Given the description of an element on the screen output the (x, y) to click on. 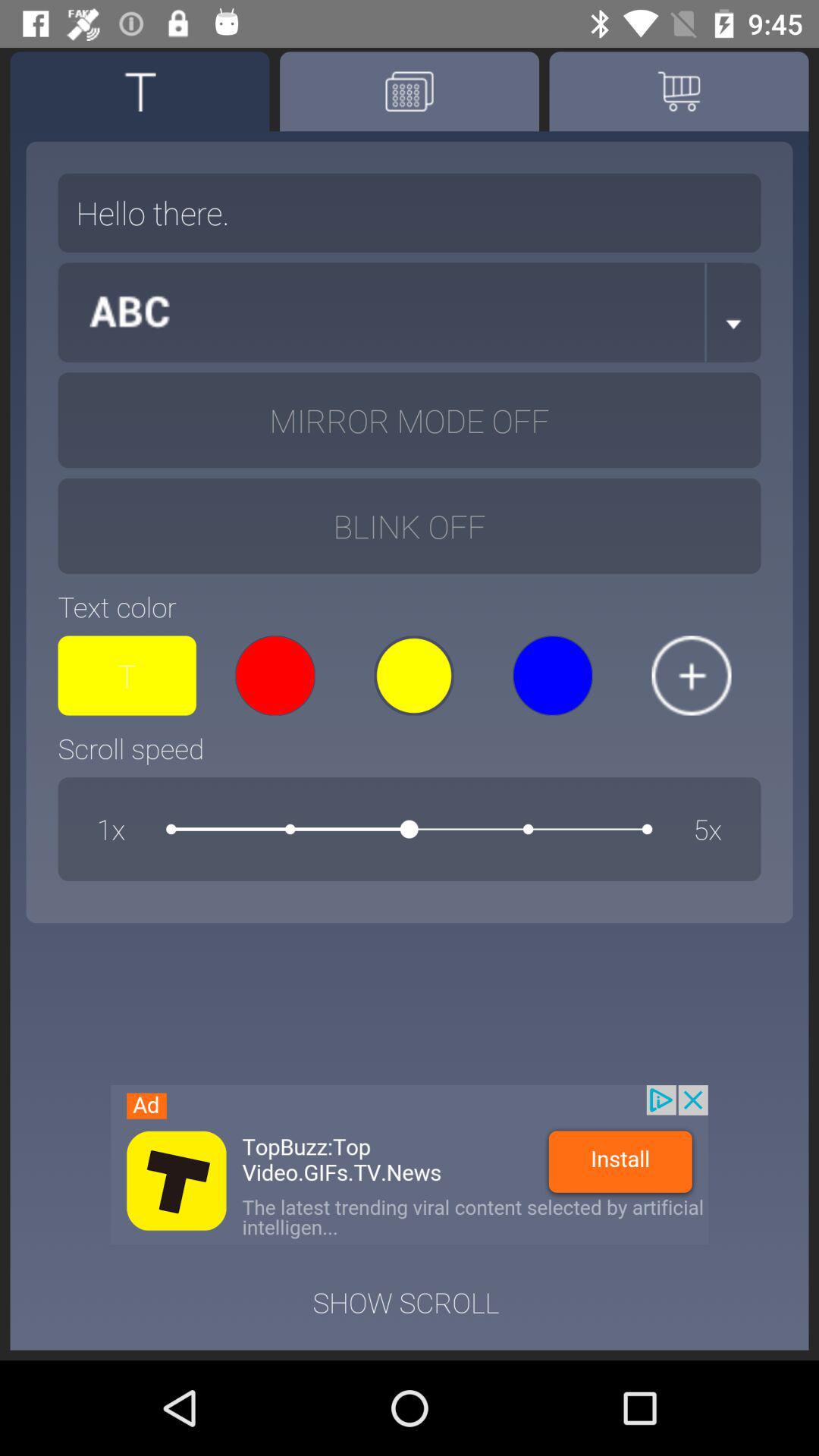
select text option (139, 91)
